Given the description of an element on the screen output the (x, y) to click on. 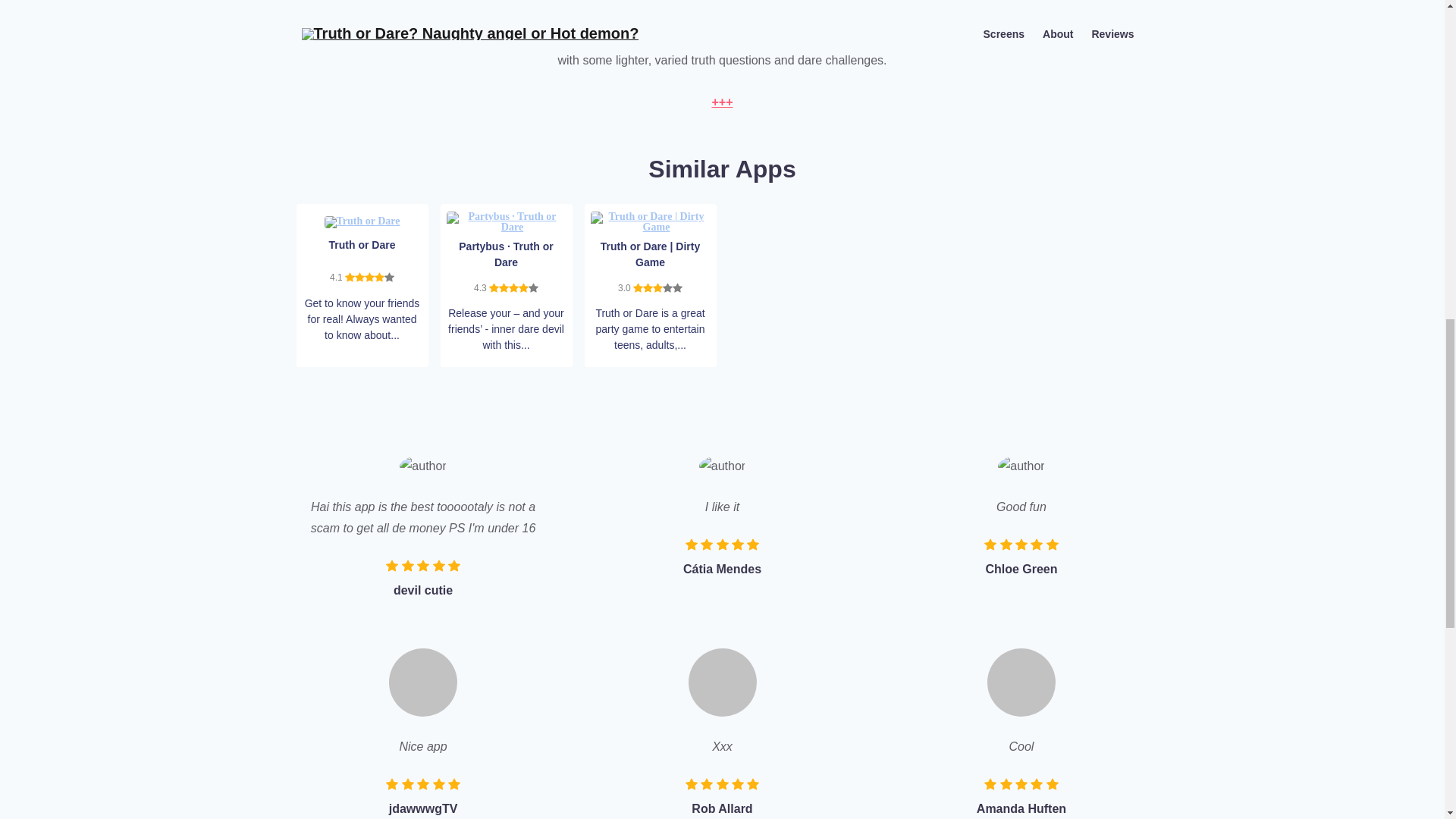
Truth or Dare (362, 220)
